Given the description of an element on the screen output the (x, y) to click on. 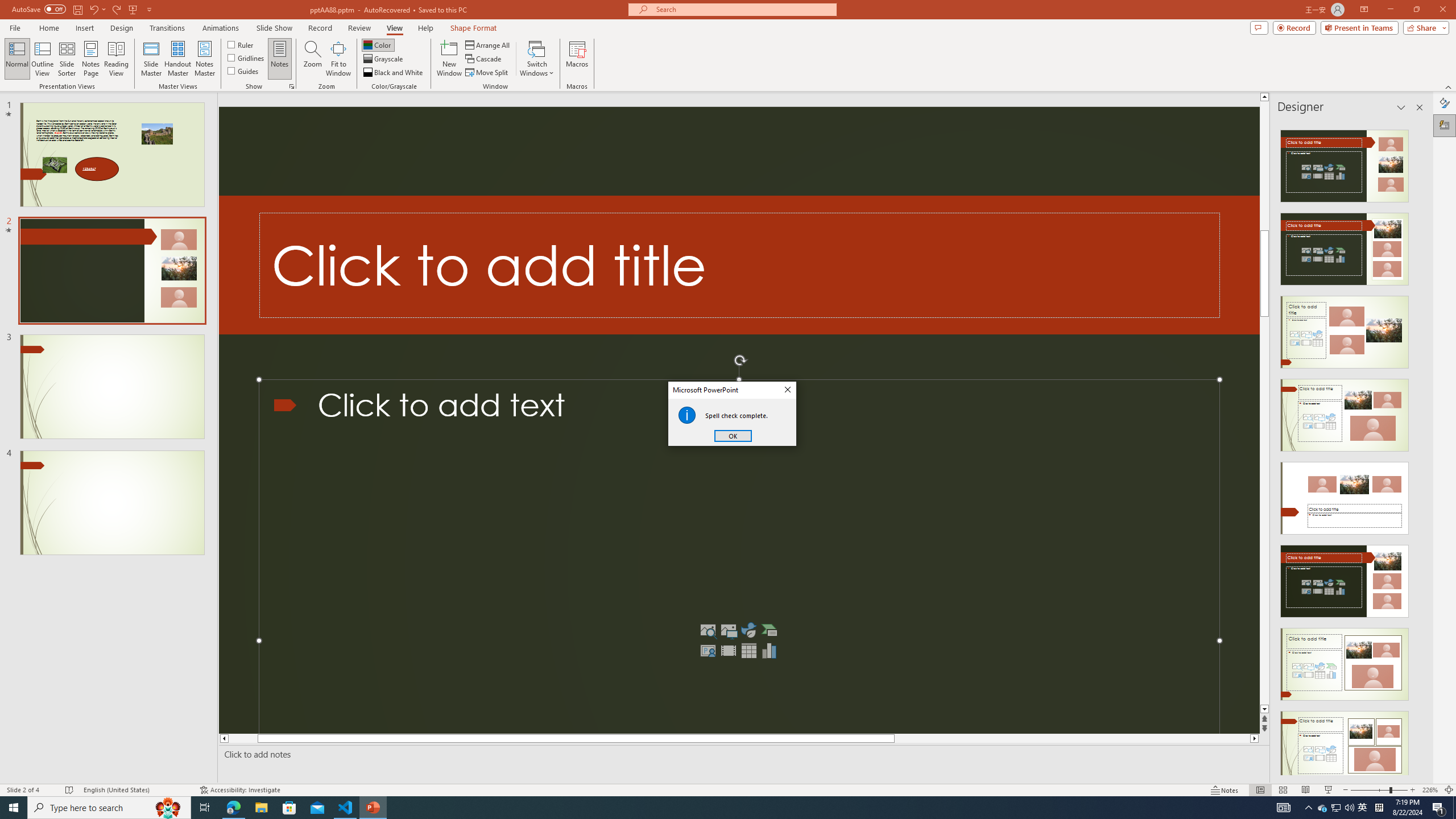
Format Background (1444, 102)
Grayscale (383, 58)
OK (732, 435)
